Given the description of an element on the screen output the (x, y) to click on. 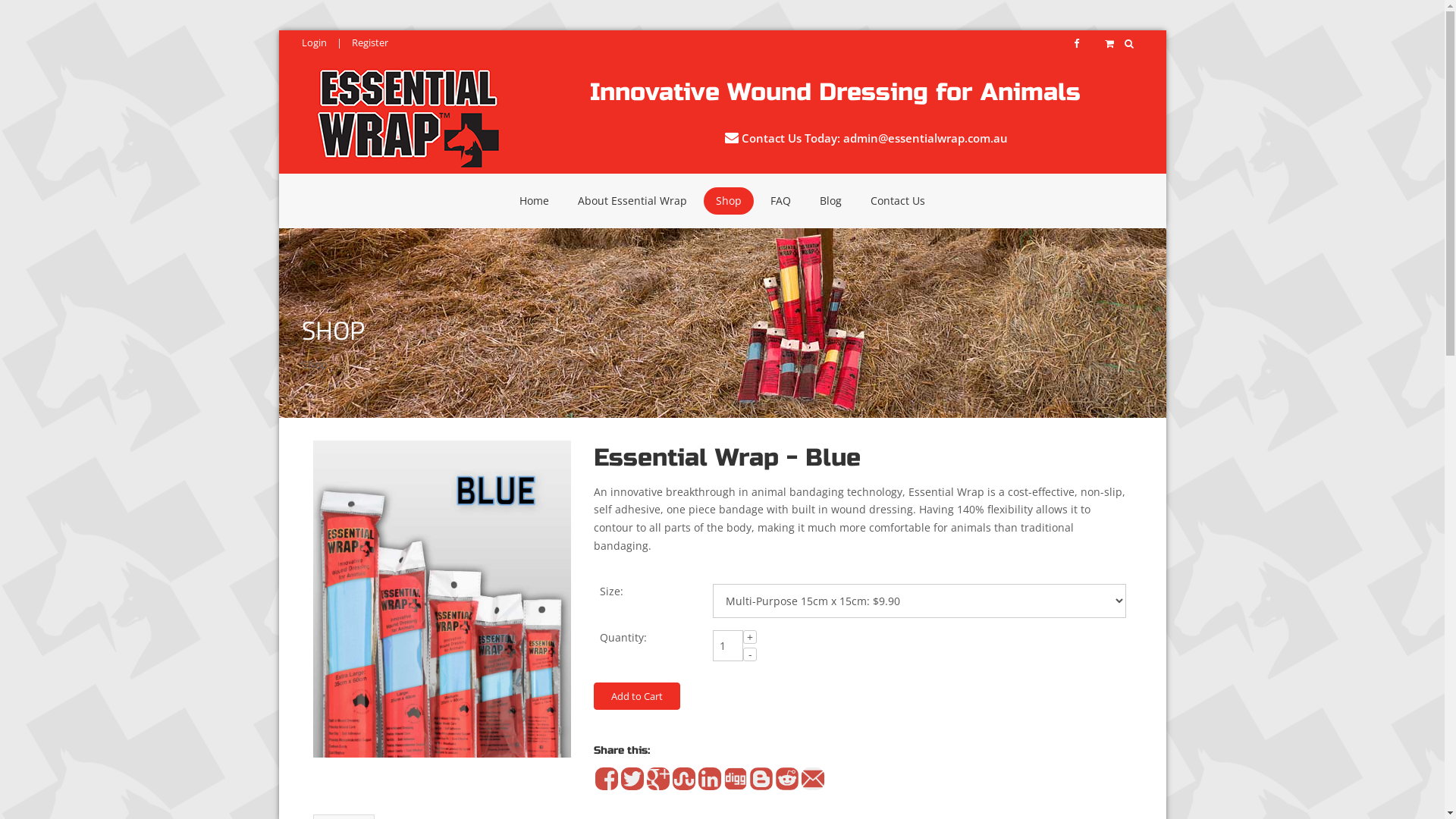
Register Element type: text (369, 42)
Blog Element type: text (830, 200)
Qty Element type: hover (727, 645)
admin@essentialwrap.com.au Element type: text (925, 137)
Login Element type: text (313, 42)
Home Element type: text (534, 200)
Shop Element type: text (728, 200)
About Essential Wrap Element type: text (632, 200)
Contact Us Element type: text (897, 200)
  Element type: text (1131, 42)
FAQ Element type: text (780, 200)
Add to Cart Element type: text (636, 696)
